Given the description of an element on the screen output the (x, y) to click on. 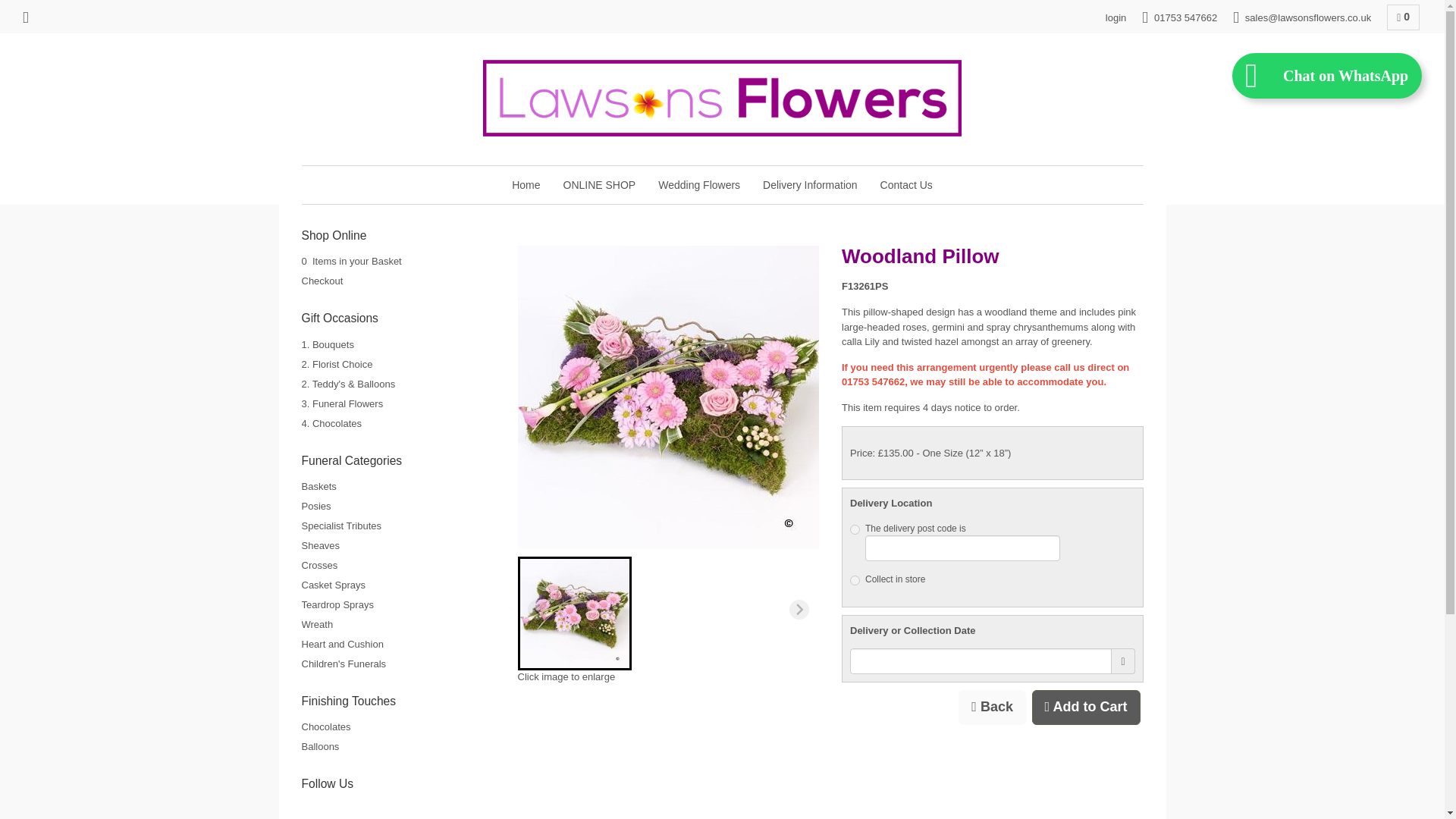
Baskets (318, 486)
3 (855, 580)
1 (855, 529)
2. Florist Choice (336, 364)
Contact Us (906, 184)
Contact Us (906, 184)
Specialist Tributes (341, 525)
Home (525, 184)
01753 547662 (1179, 17)
2. Florist Choice flowers (336, 364)
